Given the description of an element on the screen output the (x, y) to click on. 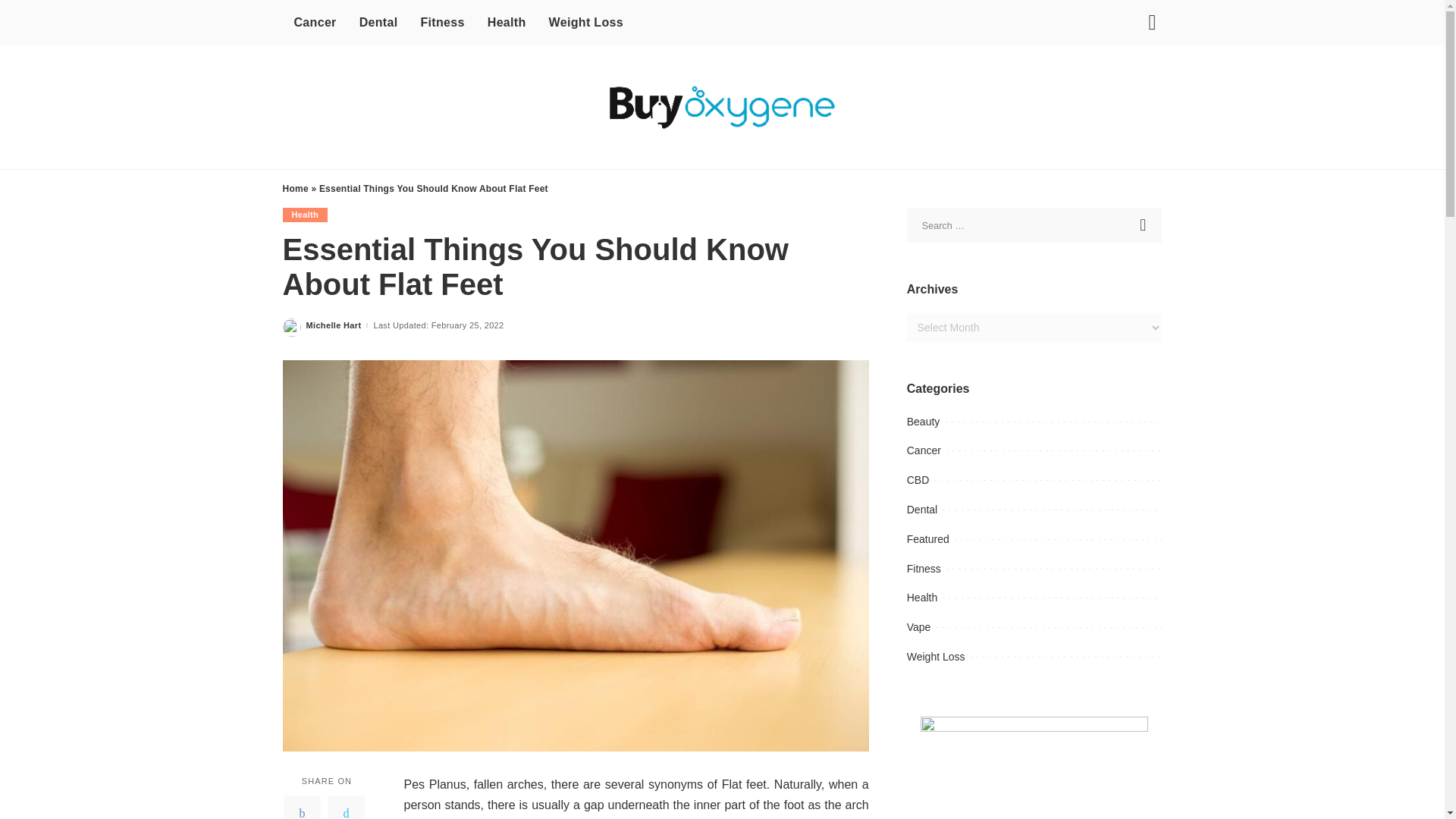
Search (1143, 225)
Search (1140, 76)
Dental (378, 22)
Buy Oxygene (722, 107)
Fitness (442, 22)
Search (1143, 225)
Home (294, 188)
Cancer (314, 22)
Michelle Hart (333, 325)
Twitter (345, 807)
